Given the description of an element on the screen output the (x, y) to click on. 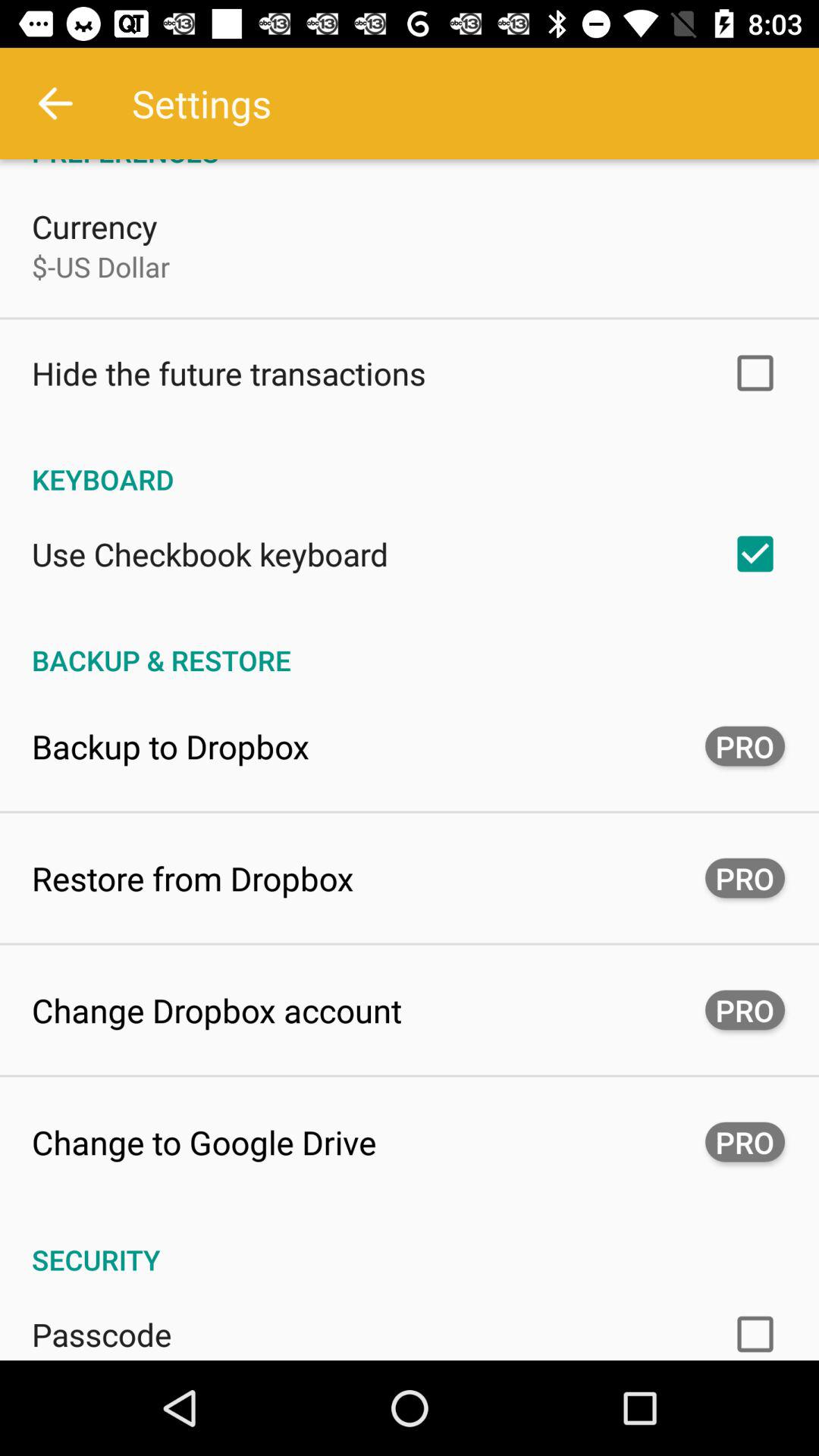
jump to use checkbook keyboard (209, 553)
